Given the description of an element on the screen output the (x, y) to click on. 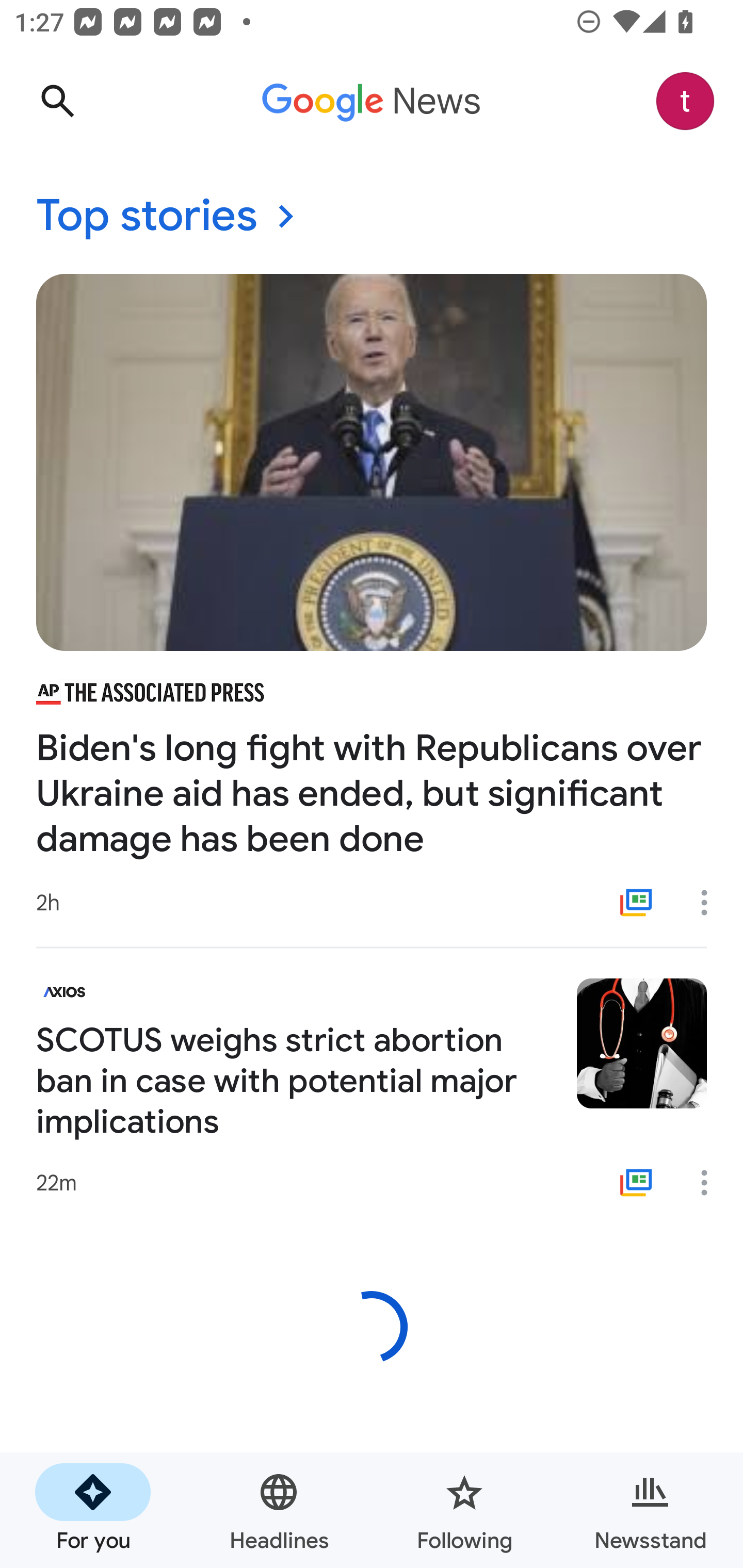
Search (57, 100)
Top stories (371, 216)
More options (711, 902)
More options (711, 1182)
For you (92, 1509)
Headlines (278, 1509)
Following (464, 1509)
Newsstand (650, 1509)
